Given the description of an element on the screen output the (x, y) to click on. 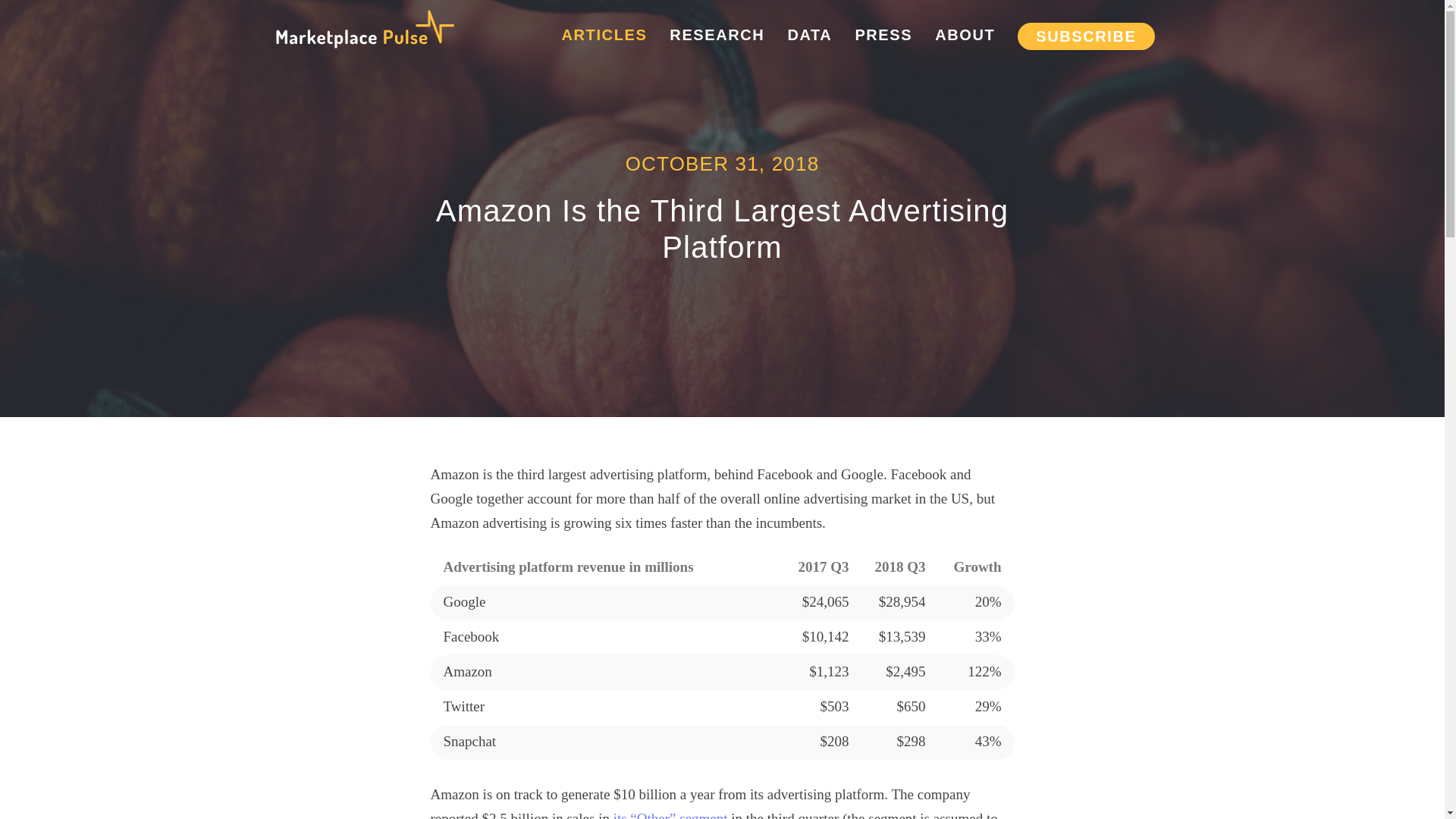
ARTICLES (604, 34)
DATA (809, 34)
ABOUT (964, 34)
RESEARCH (716, 34)
PRESS (883, 34)
SUBSCRIBE (1085, 35)
